Given the description of an element on the screen output the (x, y) to click on. 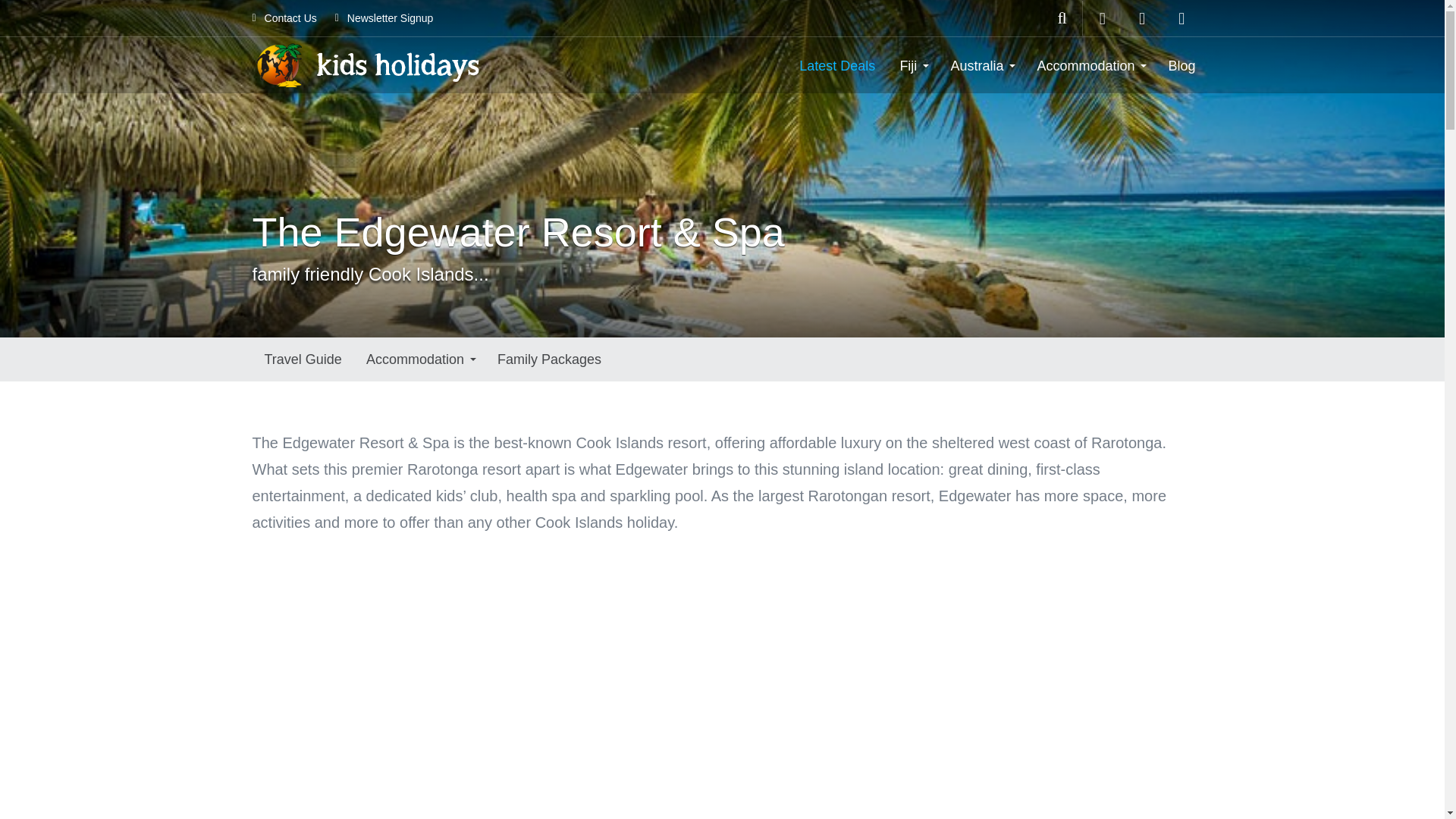
Latest Deals (836, 64)
Contact Us (283, 18)
Australia (981, 64)
Accommodation (1090, 64)
  Kids Holidays Online (365, 63)
Fiji (911, 64)
Newsletter Signup (384, 18)
Blog (1181, 64)
